Given the description of an element on the screen output the (x, y) to click on. 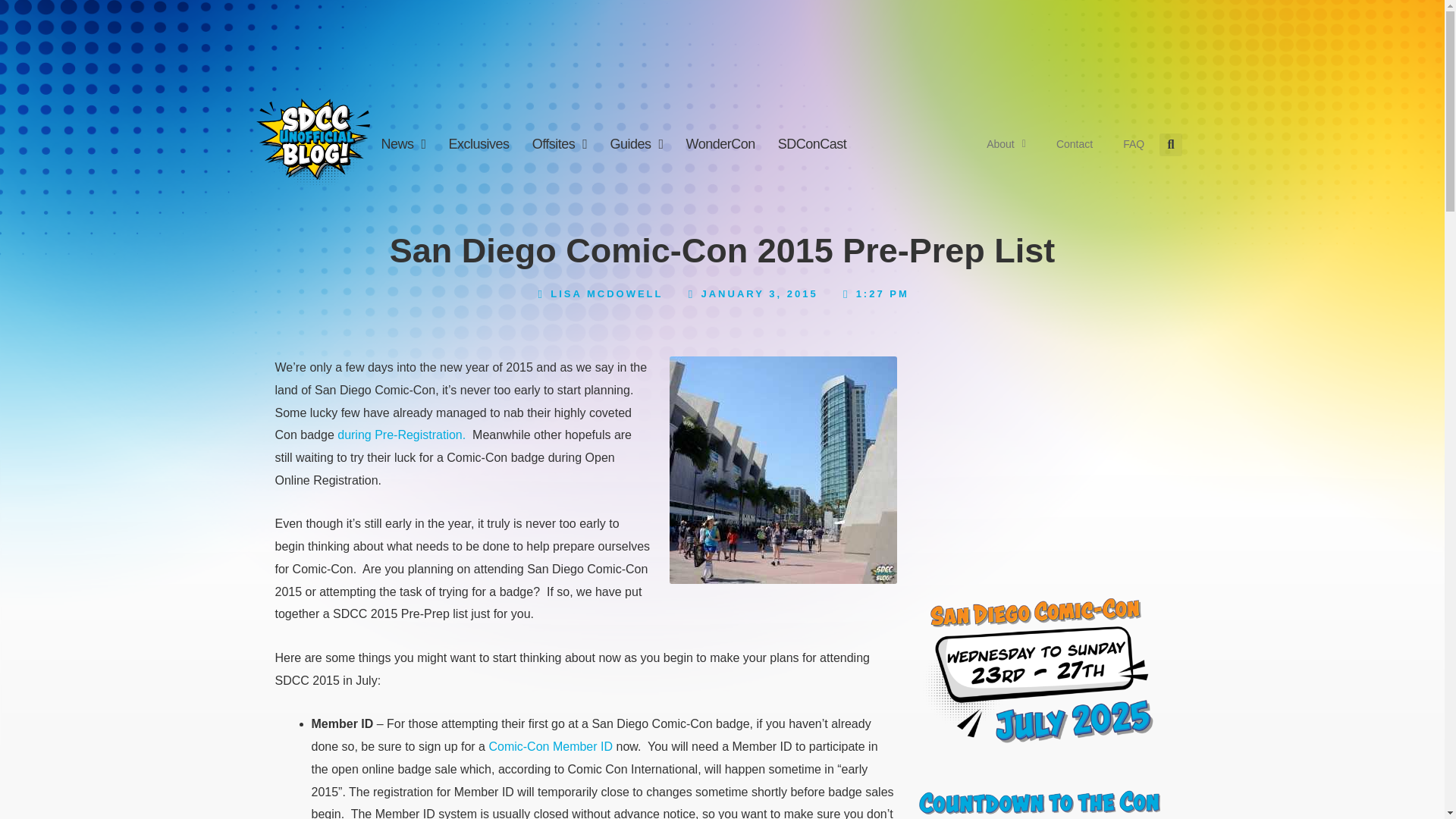
Contact (1074, 143)
WonderCon (721, 143)
Guides (636, 143)
SDConCast (813, 143)
Offsites (559, 143)
News (403, 143)
Advertisement (1024, 451)
Advertisement (722, 41)
About (1006, 143)
FAQ (1133, 143)
